Given the description of an element on the screen output the (x, y) to click on. 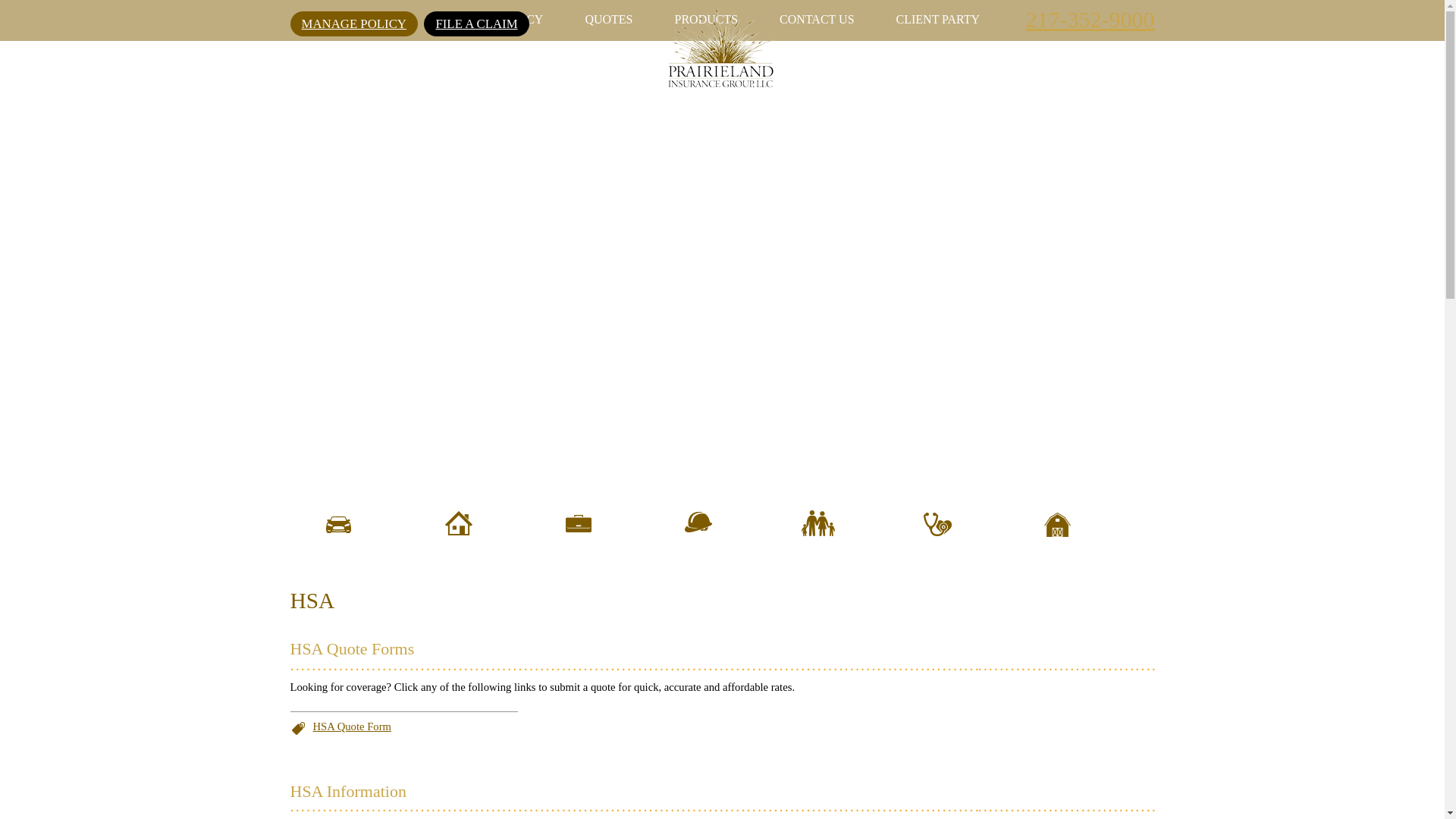
MANAGE POLICY (352, 23)
QUOTES (608, 18)
FILE A CLAIM (475, 23)
PRODUCTS (706, 18)
OUR AGENCY (503, 18)
217-352-9000 (1089, 18)
